Given the description of an element on the screen output the (x, y) to click on. 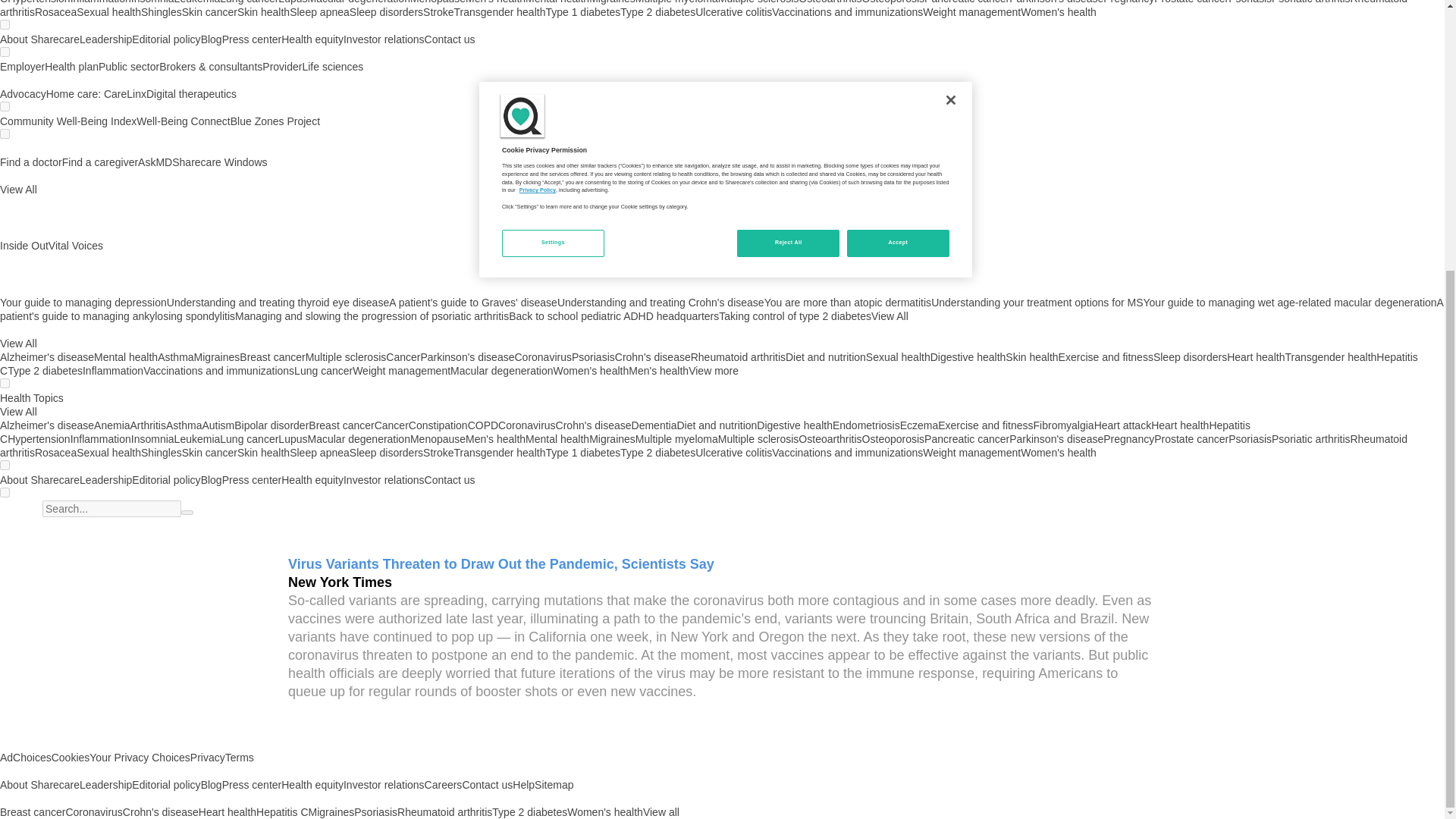
on (5, 106)
on (5, 465)
on (5, 51)
on (5, 492)
on (5, 133)
on (5, 24)
on (5, 383)
